Given the description of an element on the screen output the (x, y) to click on. 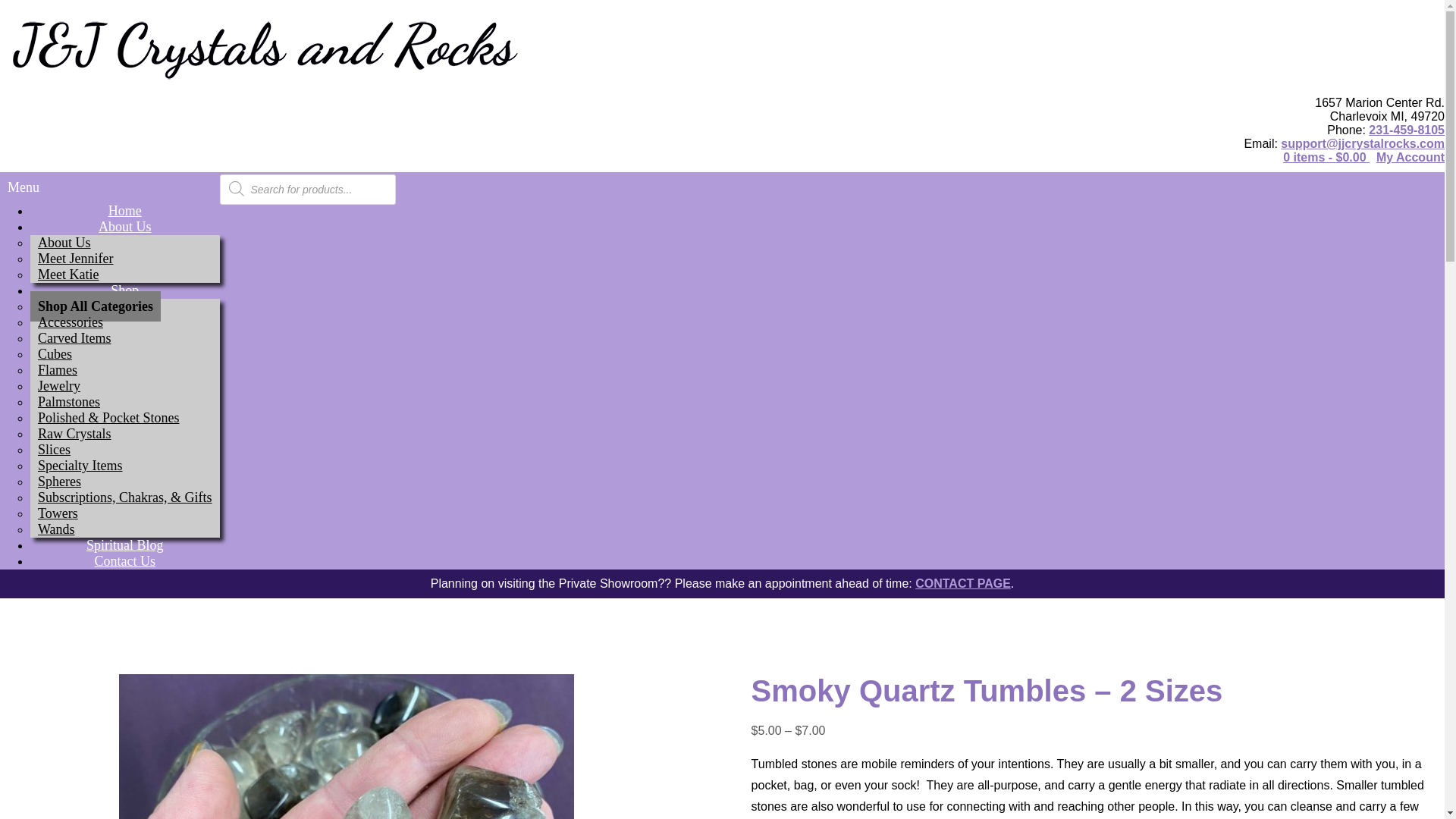
Jewelry (58, 386)
Cubes (55, 354)
Shop All Categories (95, 306)
About Us (64, 242)
Meet Jennifer (75, 258)
Menu (109, 187)
Palmstones (68, 401)
Carved Items (73, 337)
Meet Katie (68, 274)
Spheres (59, 481)
Towers (57, 512)
Slices (54, 449)
Wands (56, 529)
Home (124, 210)
View your shopping cart (1326, 156)
